Given the description of an element on the screen output the (x, y) to click on. 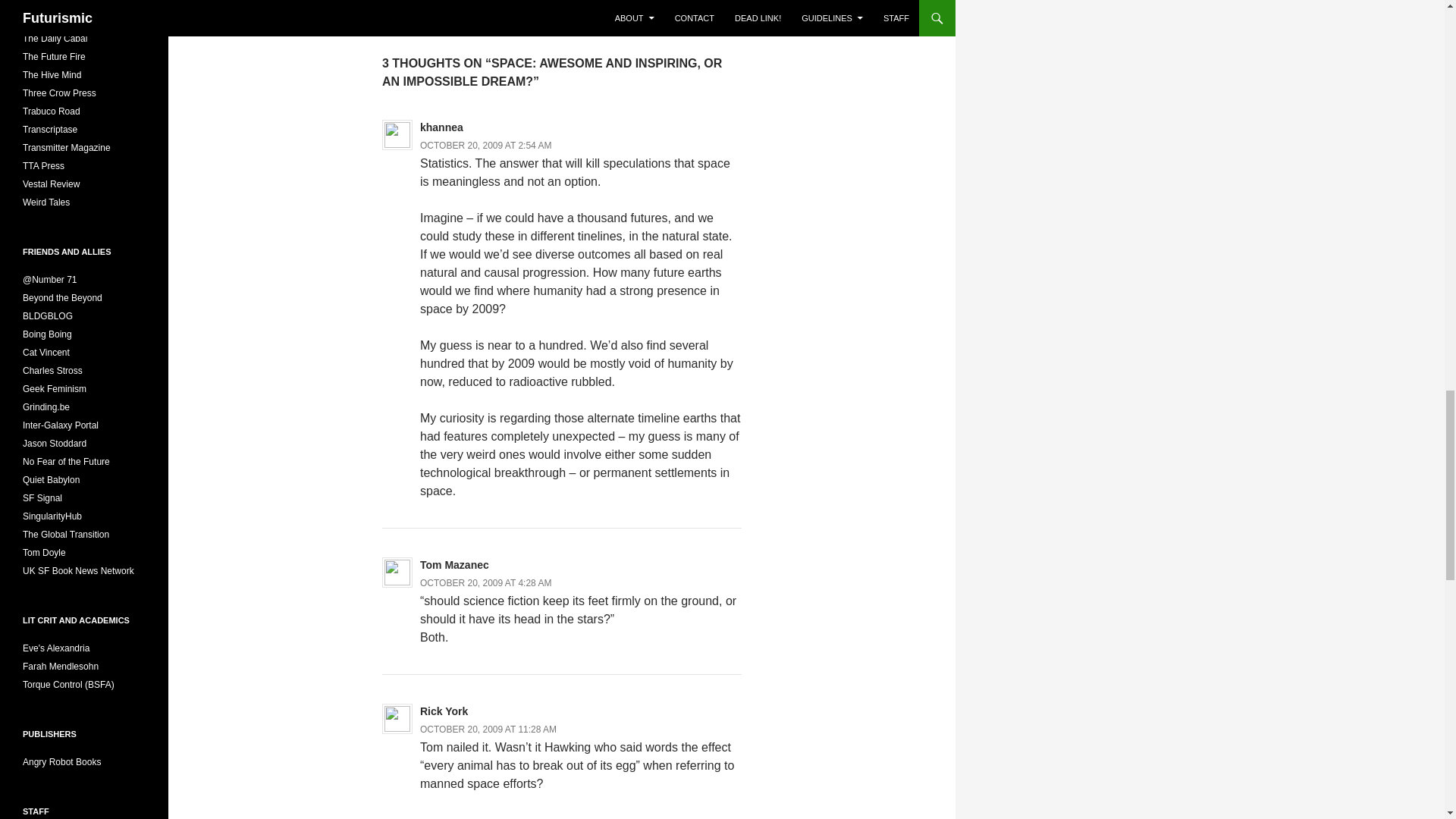
OCTOBER 20, 2009 AT 4:28 AM (485, 583)
OCTOBER 20, 2009 AT 11:28 AM (488, 728)
Tom Mazanec (454, 564)
OCTOBER 20, 2009 AT 2:54 AM (485, 145)
